Given the description of an element on the screen output the (x, y) to click on. 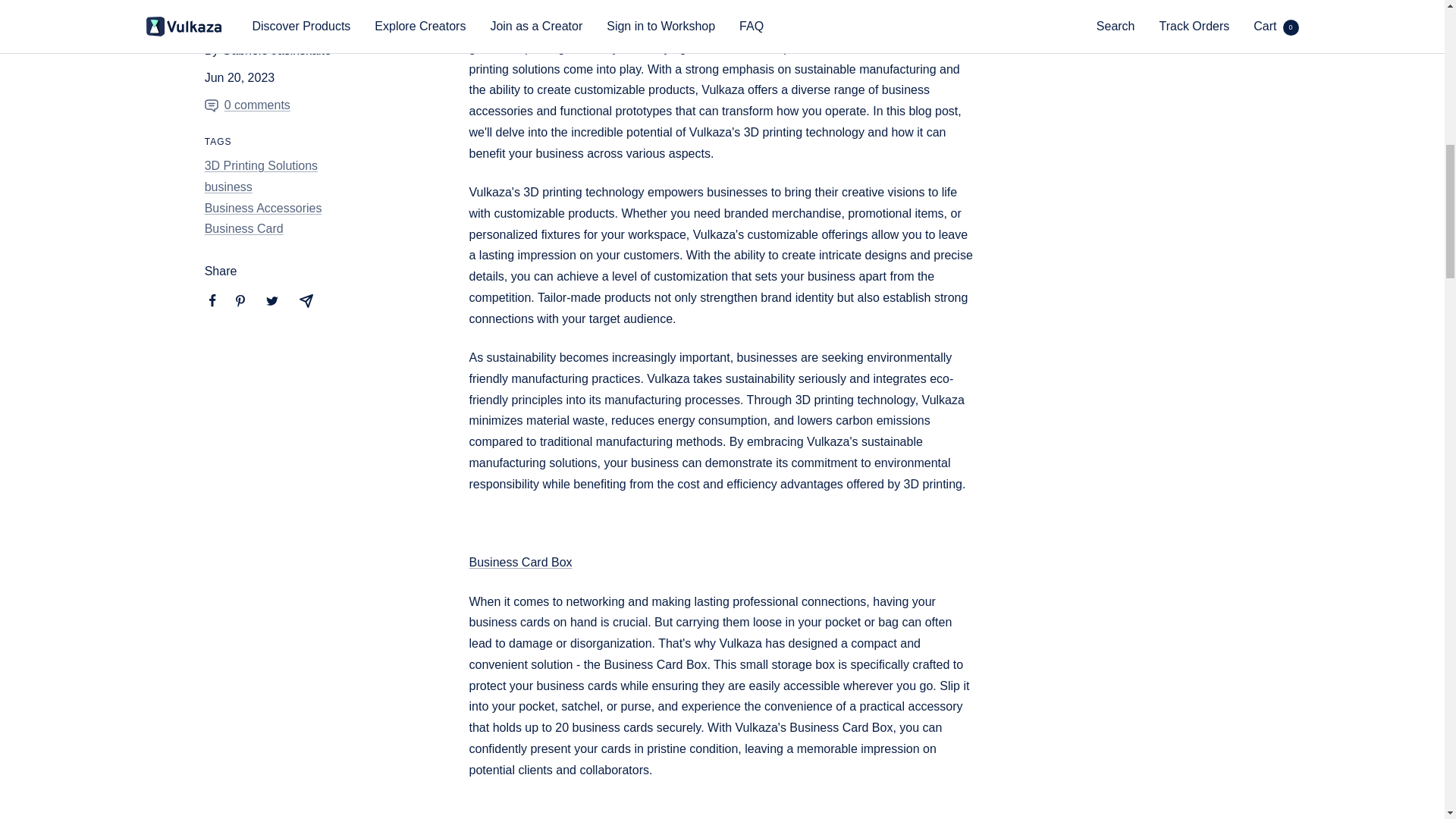
Business Card (244, 228)
business (228, 186)
Business Accessories (263, 207)
3D Printing Solutions (261, 164)
0 comments (268, 105)
Business Card Box (520, 562)
